Given the description of an element on the screen output the (x, y) to click on. 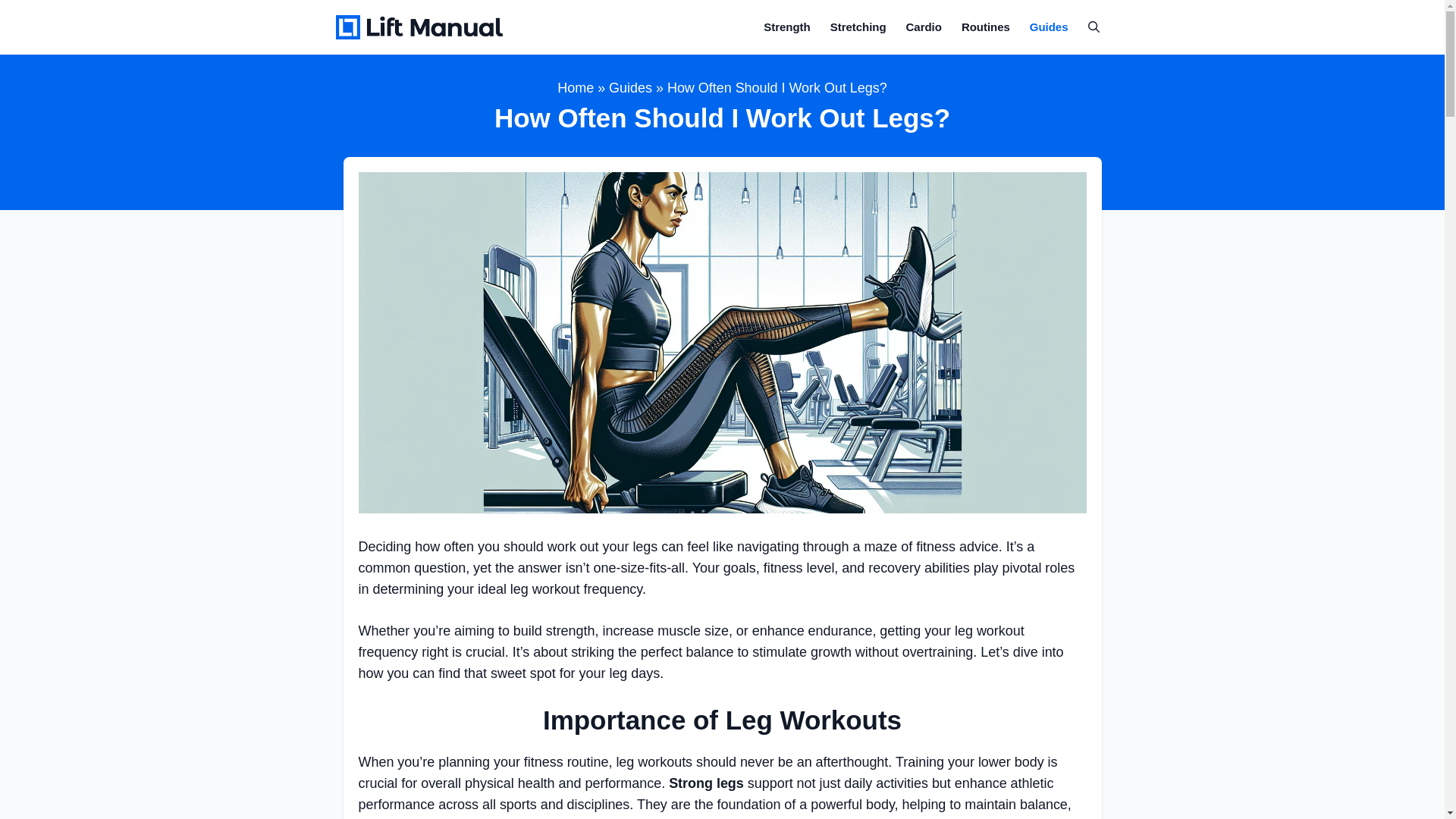
Stretching (858, 26)
Guides (1049, 26)
Strength (786, 26)
Guides (630, 87)
Cardio (924, 26)
Home (575, 87)
Routines (986, 26)
